Given the description of an element on the screen output the (x, y) to click on. 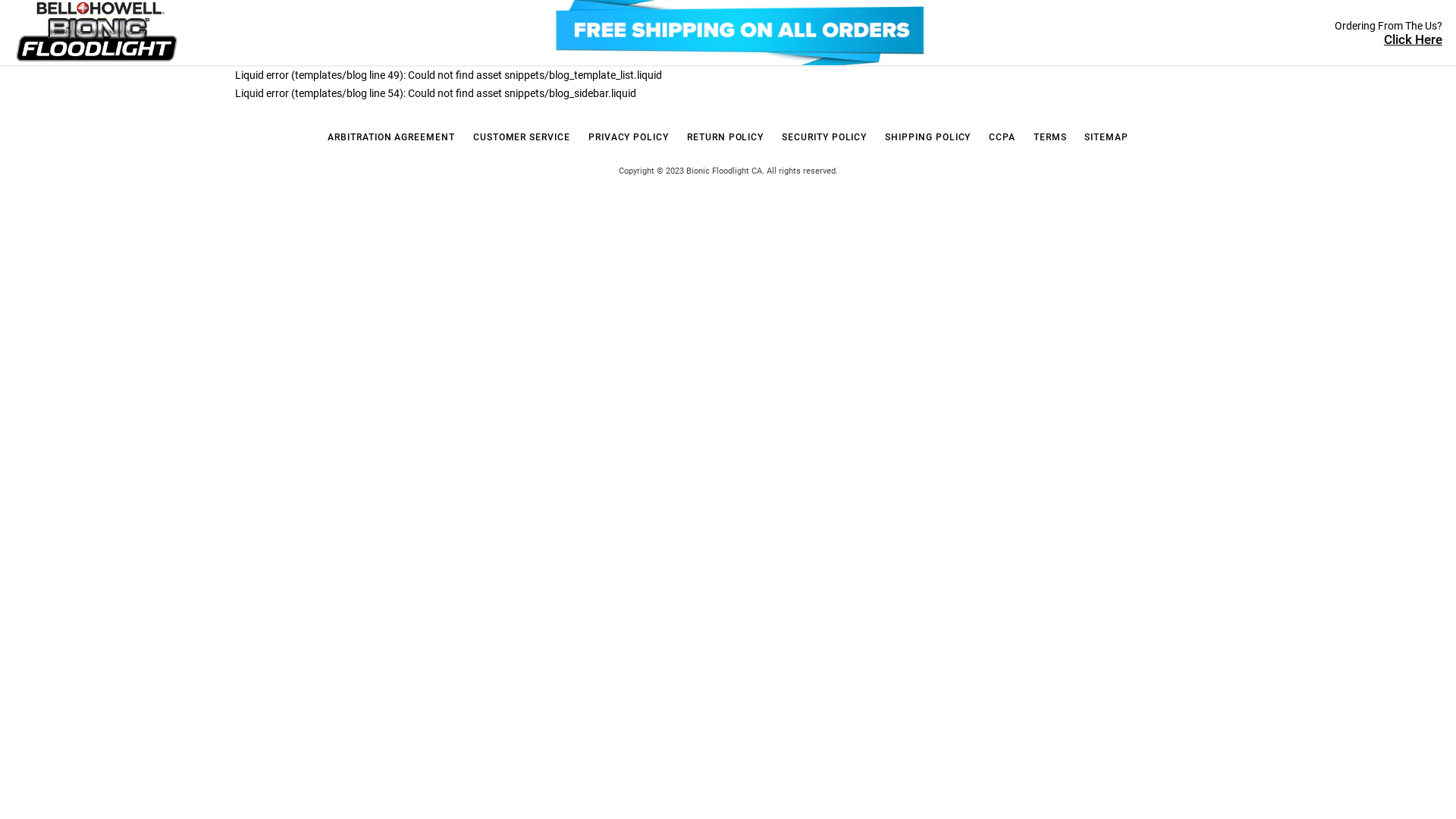
RETURN POLICY Element type: text (725, 137)
SECURITY POLICY Element type: text (823, 137)
CCPA Element type: text (1001, 137)
SHIPPING POLICY Element type: text (927, 137)
Click Here Element type: text (1412, 39)
PRIVACY POLICY Element type: text (628, 137)
ARBITRATION AGREEMENT Element type: text (391, 137)
SITEMAP Element type: text (1106, 137)
TERMS Element type: text (1049, 137)
CUSTOMER SERVICE Element type: text (521, 137)
